Given the description of an element on the screen output the (x, y) to click on. 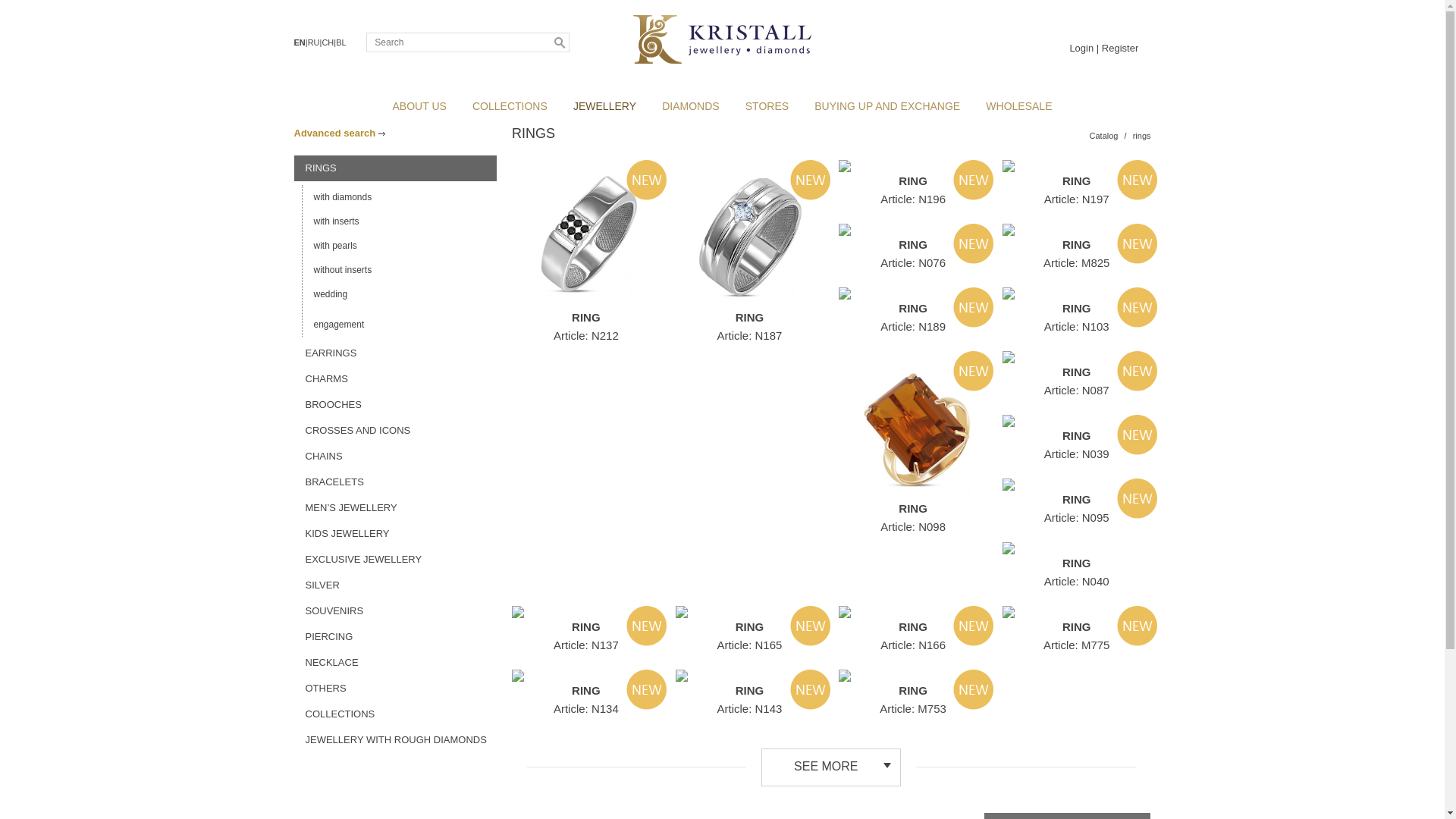
Catalog Element type: text (1103, 135)
with inserts Element type: text (398, 221)
EN Element type: text (299, 42)
JEWELLERY WITH ROUGH DIAMONDS Element type: text (395, 740)
Index Element type: hover (721, 31)
CHAINS Element type: text (395, 456)
engagement Element type: text (398, 324)
CROSSES AND ICONS Element type: text (395, 430)
RINGS Element type: text (395, 168)
COLLECTIONS Element type: text (395, 714)
STORES Element type: text (767, 105)
BUYING UP AND EXCHANGE Element type: text (887, 105)
Search Element type: text (559, 42)
RU Element type: text (313, 42)
rings Element type: text (1141, 135)
with diamonds Element type: text (398, 197)
without inserts Element type: text (398, 269)
SOUVENIRS Element type: text (395, 611)
OTHERS Element type: text (395, 688)
with pearls Element type: text (398, 245)
Advanced search Element type: text (339, 133)
CHARMS Element type: text (395, 379)
wedding Element type: text (398, 294)
BL Element type: text (340, 42)
JEWELLERY Element type: text (604, 105)
KIDS JEWELLERY Element type: text (395, 533)
NECKLACE Element type: text (395, 662)
SILVER Element type: text (395, 585)
EXCLUSIVE JEWELLERY Element type: text (395, 559)
ABOUT US Element type: text (419, 105)
EARRINGS Element type: text (395, 353)
Back to the list Element type: text (333, 133)
Login Element type: text (1081, 47)
Register Element type: text (1119, 47)
PIERCING Element type: text (395, 636)
BRACELETS Element type: text (395, 482)
WHOLESALE Element type: text (1018, 105)
COLLECTIONS Element type: text (509, 105)
CH Element type: text (327, 42)
DIAMONDS Element type: text (690, 105)
BROOCHES Element type: text (395, 404)
